Given the description of an element on the screen output the (x, y) to click on. 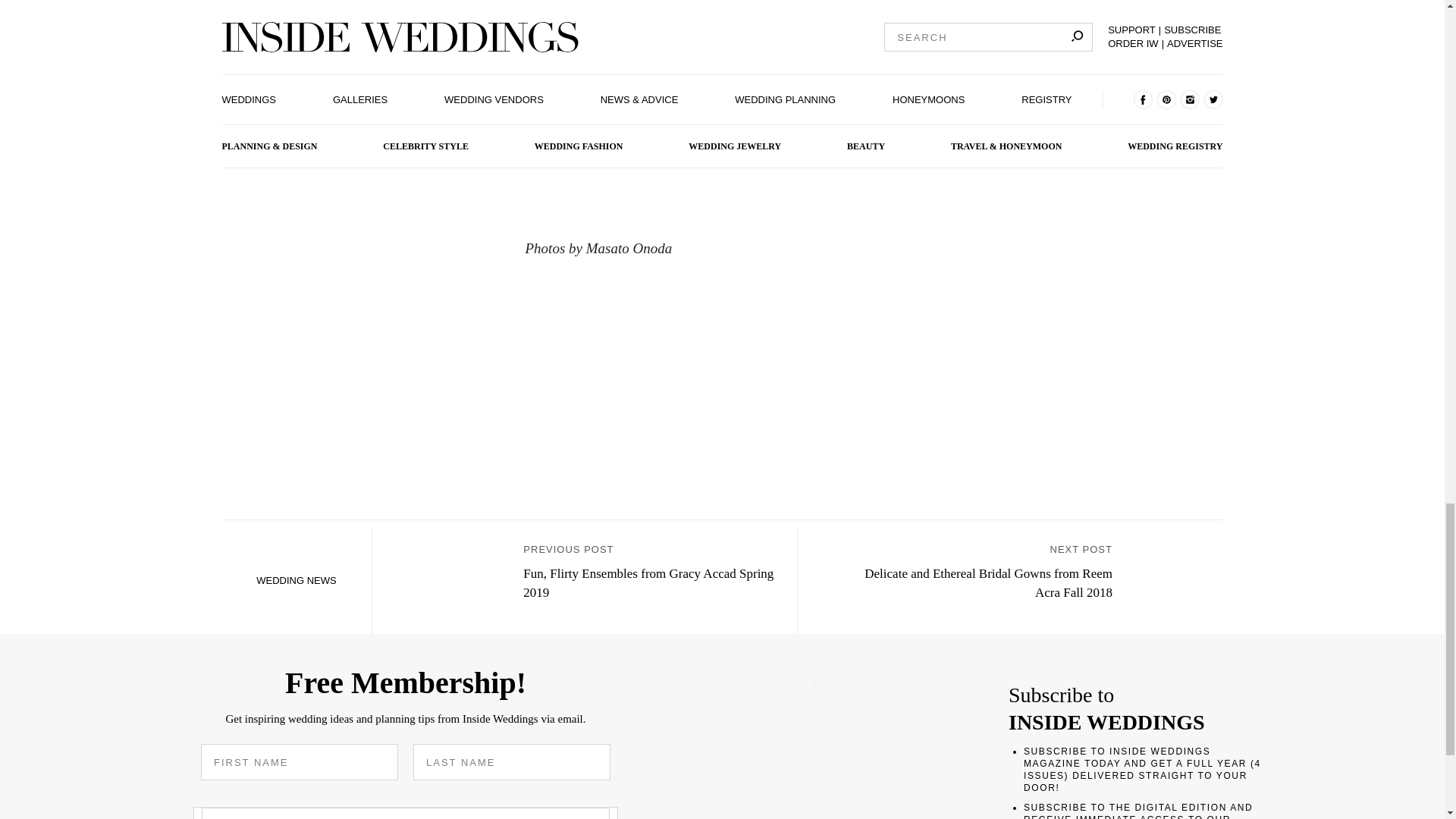
Fun, Flirty Ensembles from Gracy Accad Spring 2019 (454, 580)
Reem Acra Fall 2018 (1174, 580)
